Given the description of an element on the screen output the (x, y) to click on. 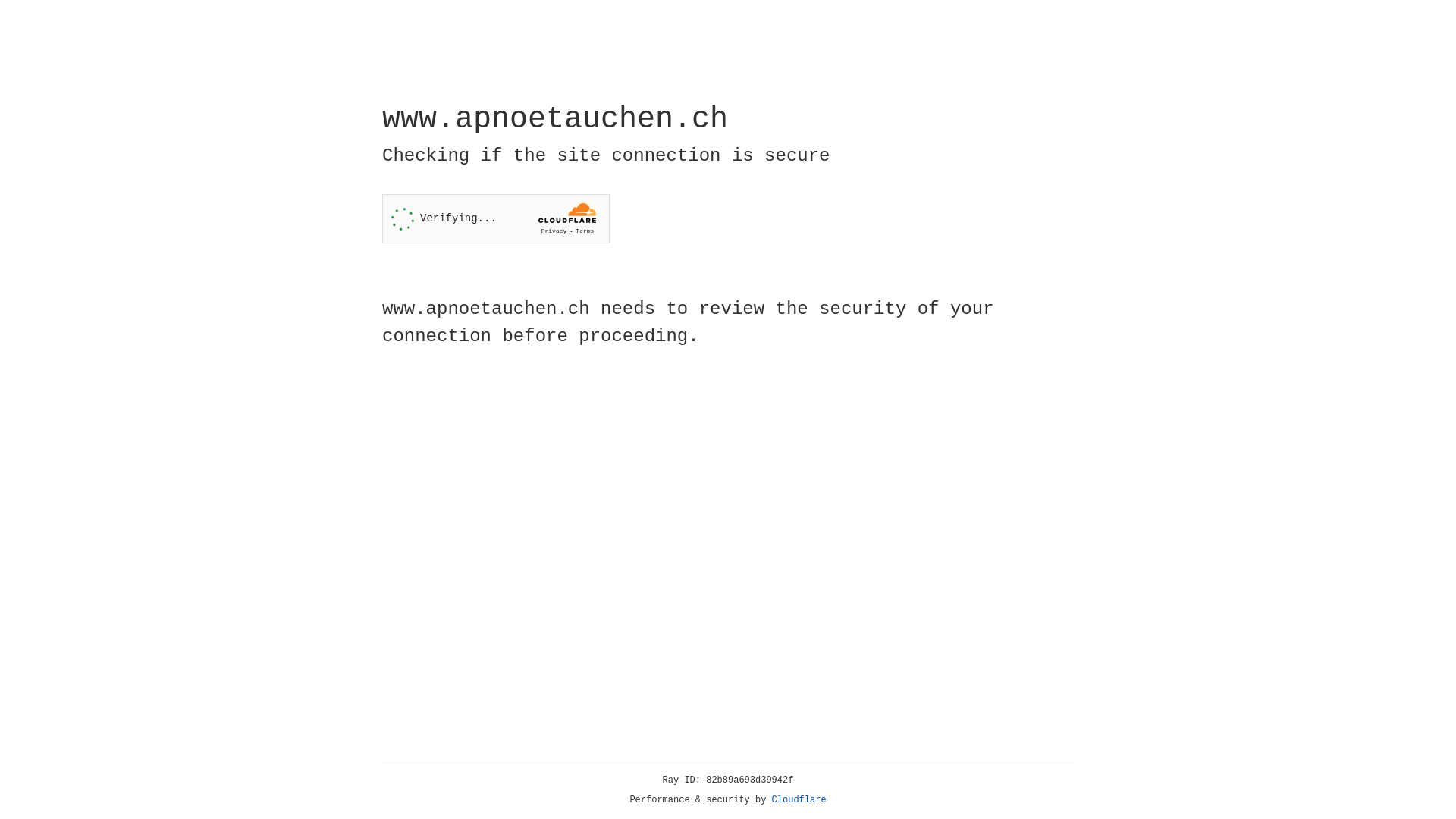
Cloudflare Element type: text (798, 799)
Widget containing a Cloudflare security challenge Element type: hover (495, 218)
